Given the description of an element on the screen output the (x, y) to click on. 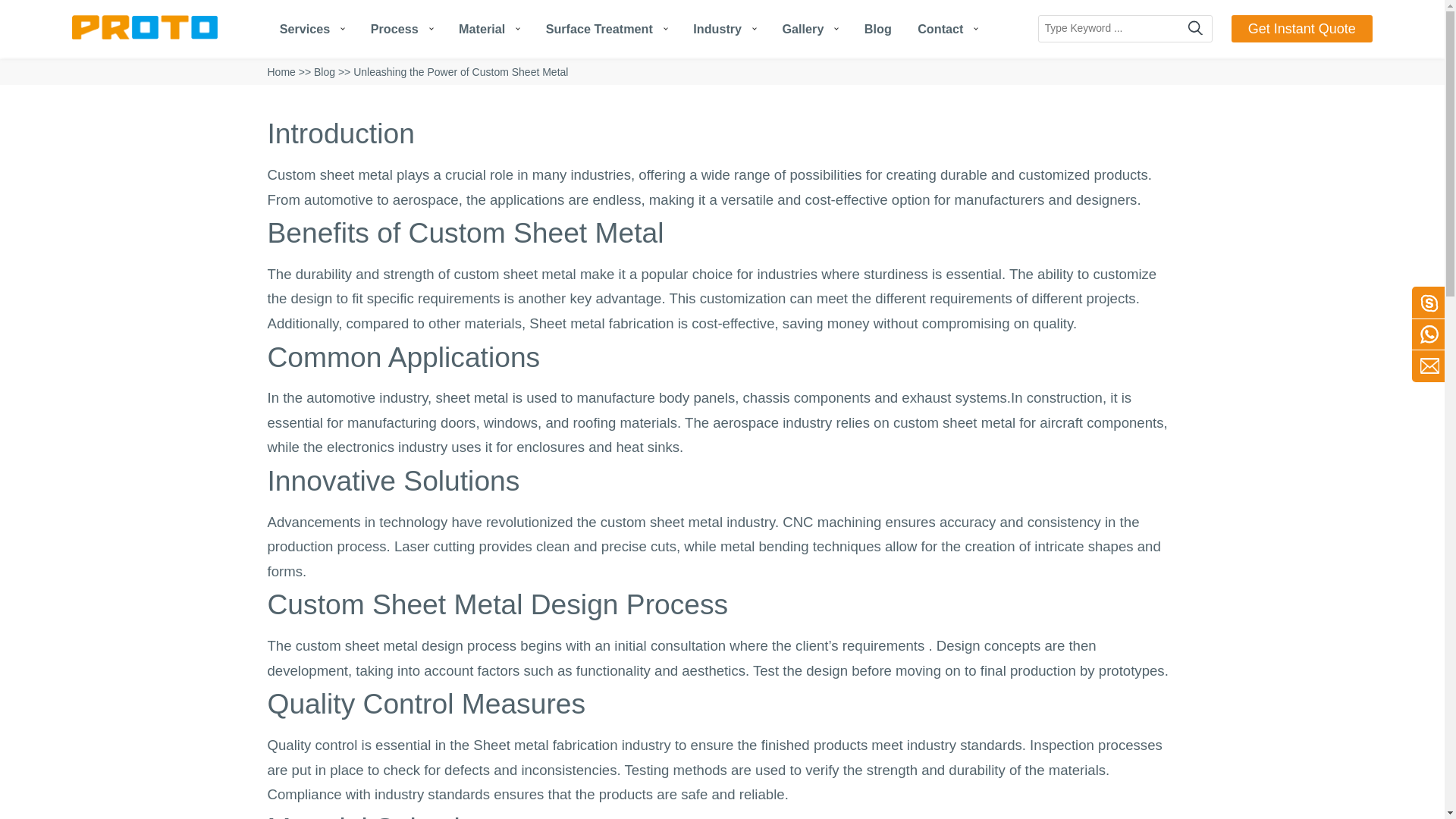
Surface Treatment (606, 28)
Services (312, 28)
Material (488, 28)
Type Keyword ... (1111, 28)
Process (401, 28)
